Given the description of an element on the screen output the (x, y) to click on. 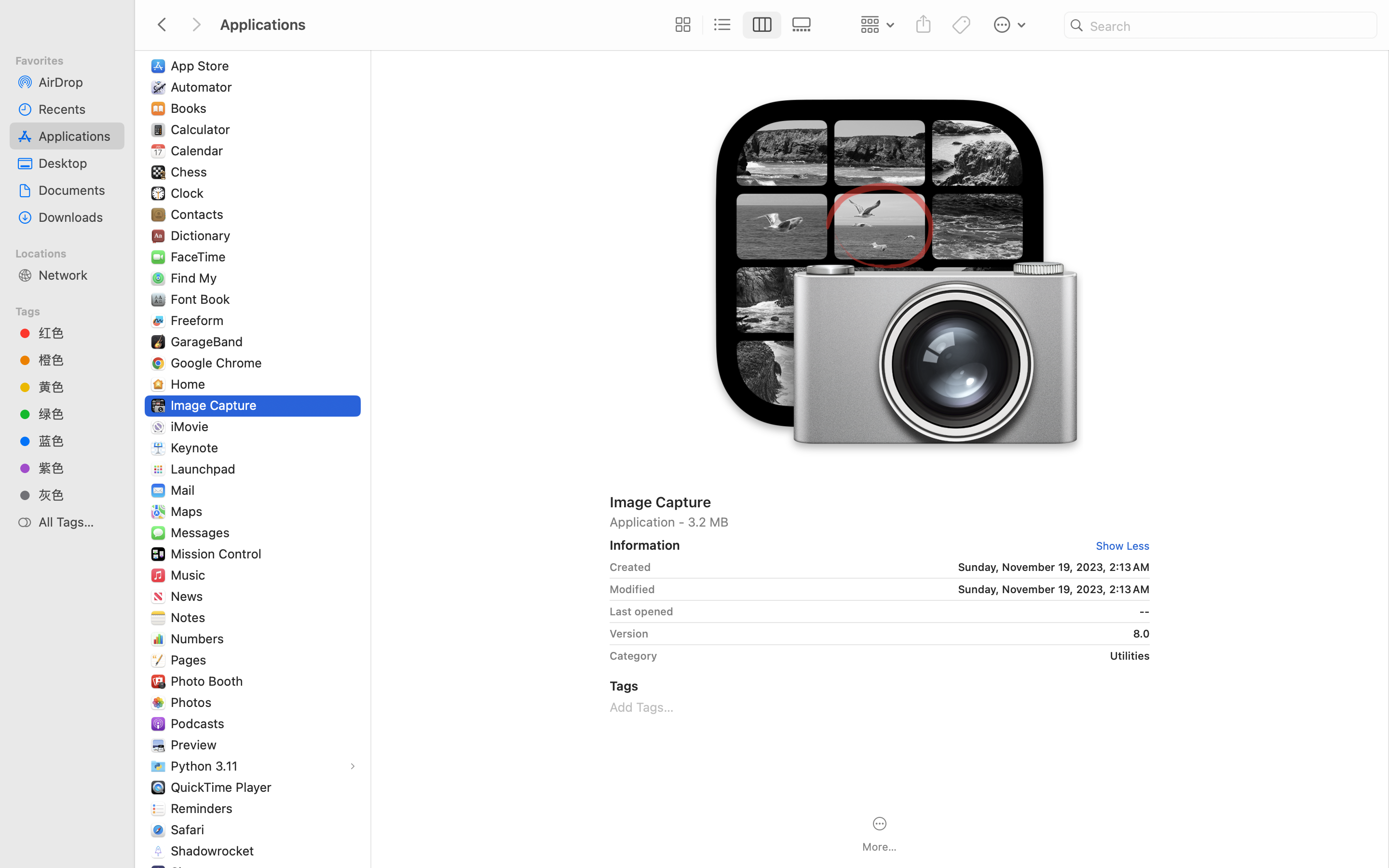
Recents Element type: AXStaticText (77, 108)
Photo Booth Element type: AXTextField (208, 680)
Downloads Element type: AXStaticText (77, 216)
紫色 Element type: AXStaticText (77, 467)
Clock Element type: AXTextField (189, 192)
